Given the description of an element on the screen output the (x, y) to click on. 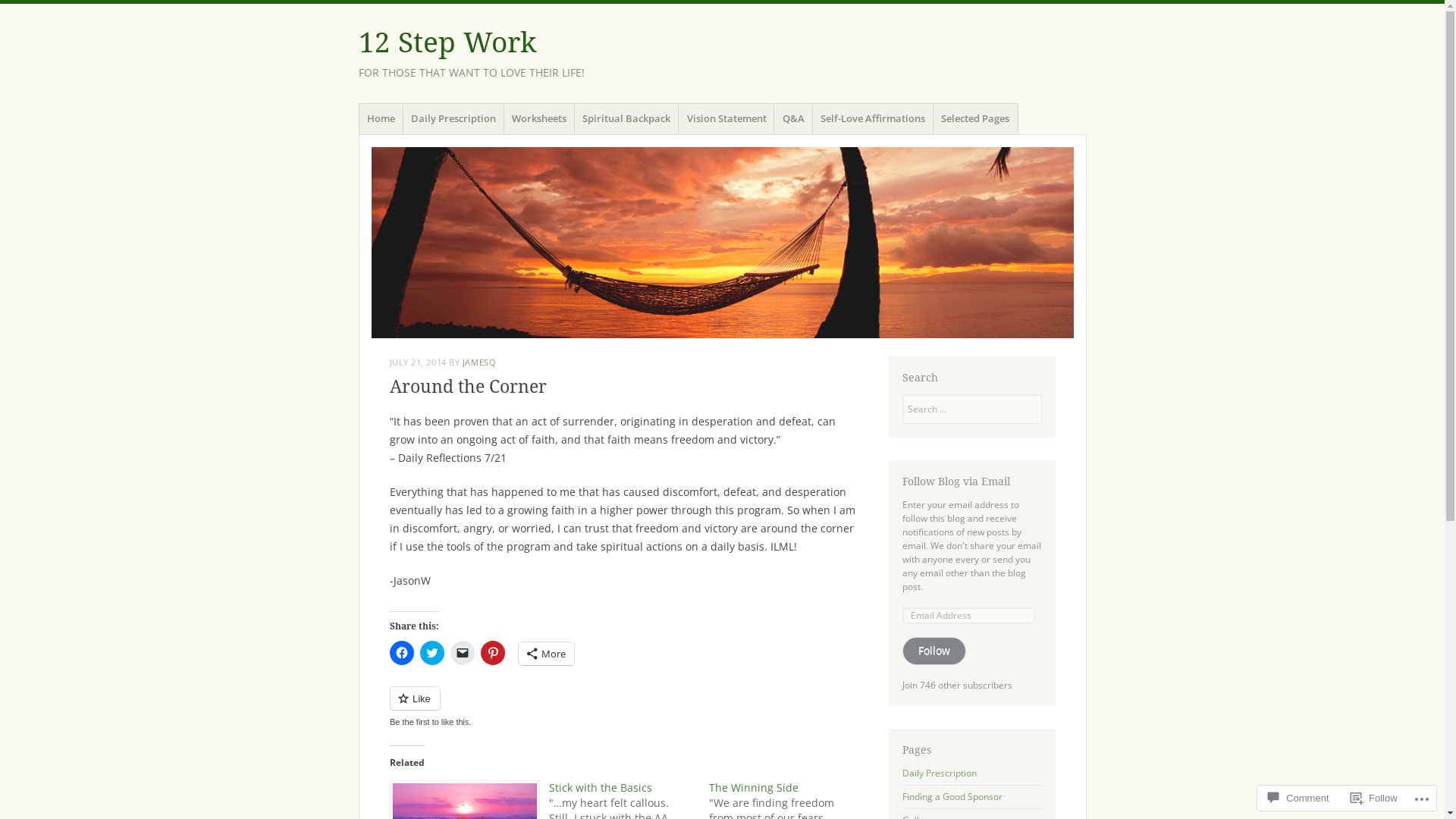
Click to share on Facebook (Opens in new window) Element type: text (401, 652)
More Element type: text (546, 653)
Vision Statement Element type: text (726, 118)
Daily Prescription Element type: text (939, 772)
Like or Reblog Element type: hover (624, 707)
Search Element type: text (18, 8)
Spiritual Backpack Element type: text (626, 118)
Self-Love Affirmations Element type: text (873, 118)
Click to email a link to a friend (Opens in new window) Element type: text (462, 652)
Daily Prescription Element type: text (453, 118)
Home Element type: text (380, 118)
12 Step Work Element type: hover (722, 242)
Finding a Good Sponsor Element type: text (952, 796)
JAMESQ Element type: text (478, 361)
Click to share on Pinterest (Opens in new window) Element type: text (492, 652)
Q&A Element type: text (792, 118)
Follow Element type: text (1373, 797)
Selected Pages Element type: text (975, 118)
JULY 21, 2014 Element type: text (417, 361)
Worksheets Element type: text (539, 118)
Comment Element type: text (1297, 797)
12 Step Work Element type: text (446, 42)
Stick with the Basics Element type: text (600, 787)
Click to share on Twitter (Opens in new window) Element type: text (432, 652)
The Winning Side Element type: text (753, 787)
Follow Element type: text (934, 651)
